Given the description of an element on the screen output the (x, y) to click on. 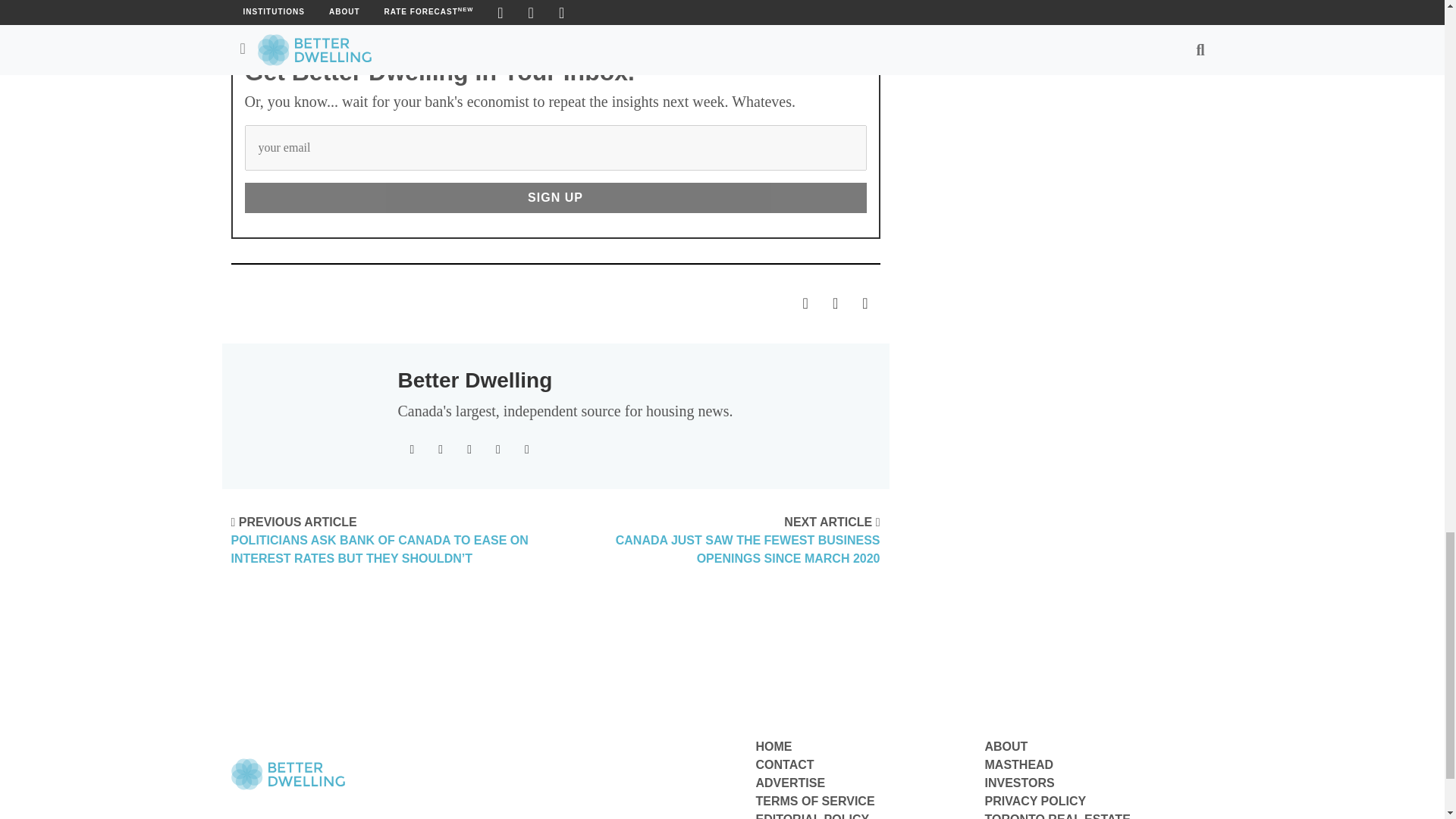
SIGN UP (555, 197)
CANADIAN MORTGAGES (477, 1)
Posts by Better Dwelling (474, 380)
Better Dwelling (474, 380)
Contact Better Dwelling (784, 764)
BANK OF CANADA (302, 1)
